Given the description of an element on the screen output the (x, y) to click on. 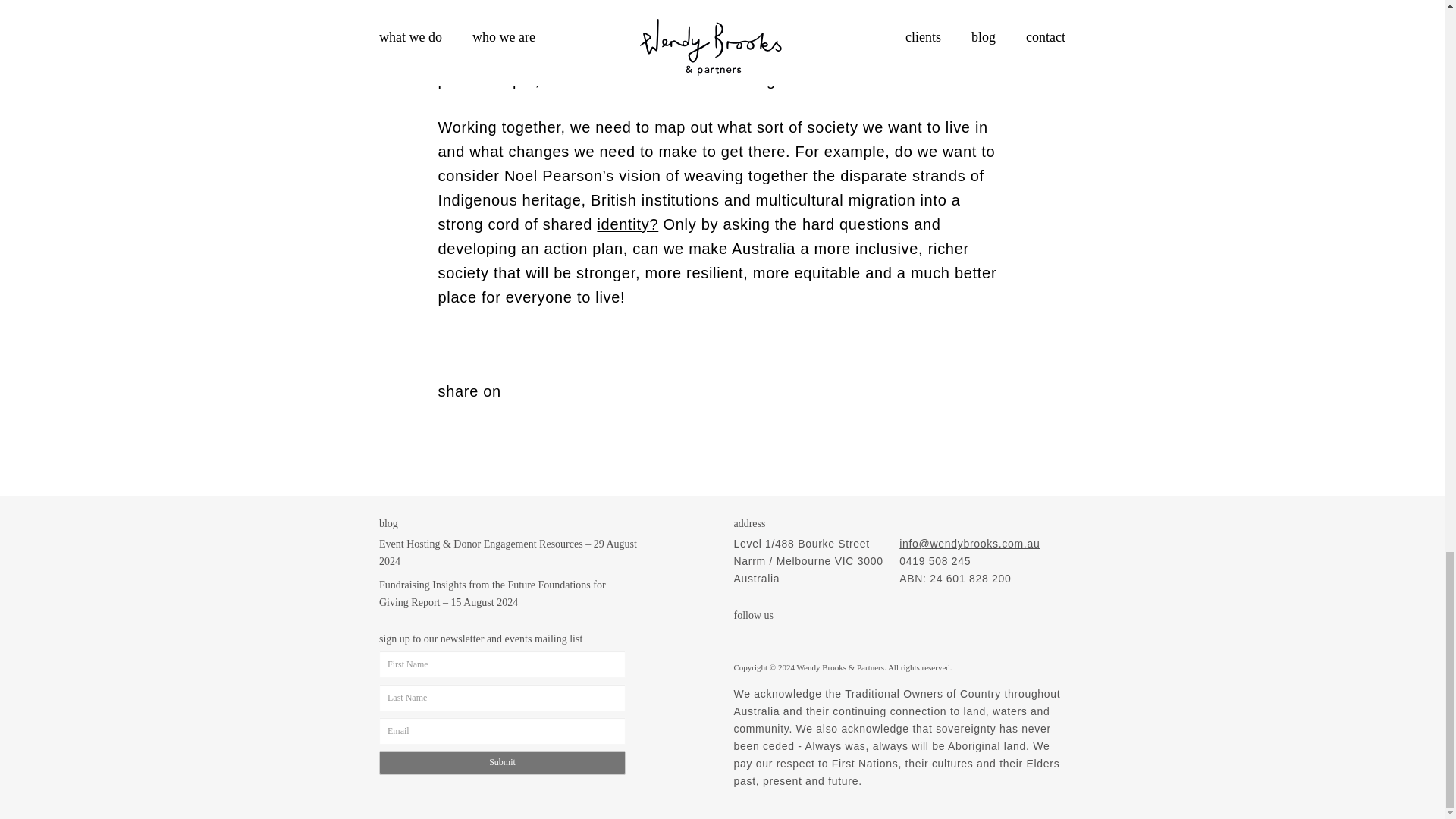
0419 508 245 (935, 561)
identity? (627, 224)
LinkedIn (804, 637)
Submit (502, 762)
Share on LinkedIn (475, 414)
Submit (502, 762)
Instagram (743, 637)
Facebook (773, 637)
Share on Facebook (449, 414)
